Given the description of an element on the screen output the (x, y) to click on. 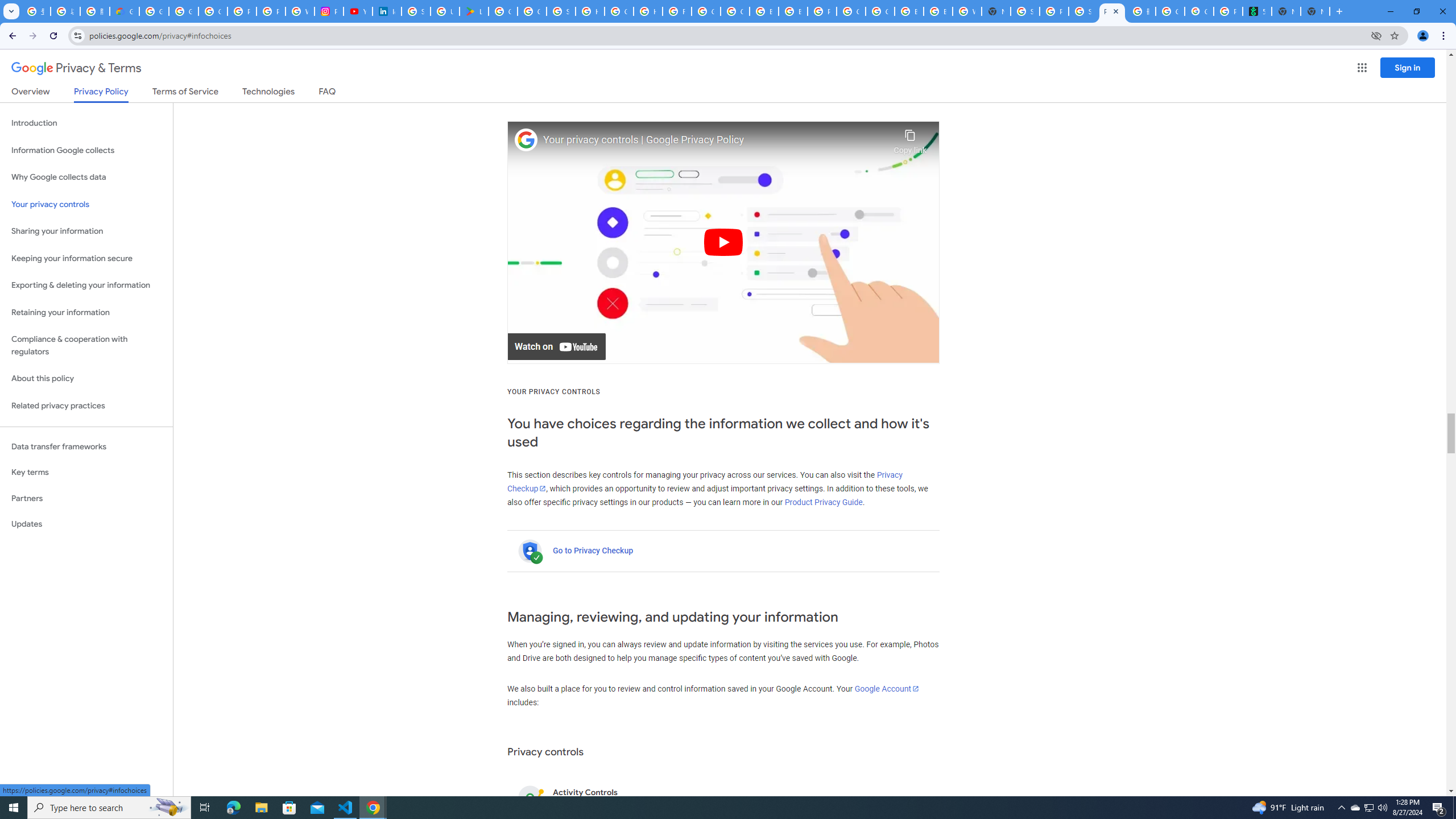
Google Account (887, 688)
Browse Chrome as a guest - Computer - Google Chrome Help (908, 11)
Play (723, 242)
Key terms (86, 472)
Browse Chrome as a guest - Computer - Google Chrome Help (938, 11)
Partners (86, 497)
Google Cloud Platform (879, 11)
